Given the description of an element on the screen output the (x, y) to click on. 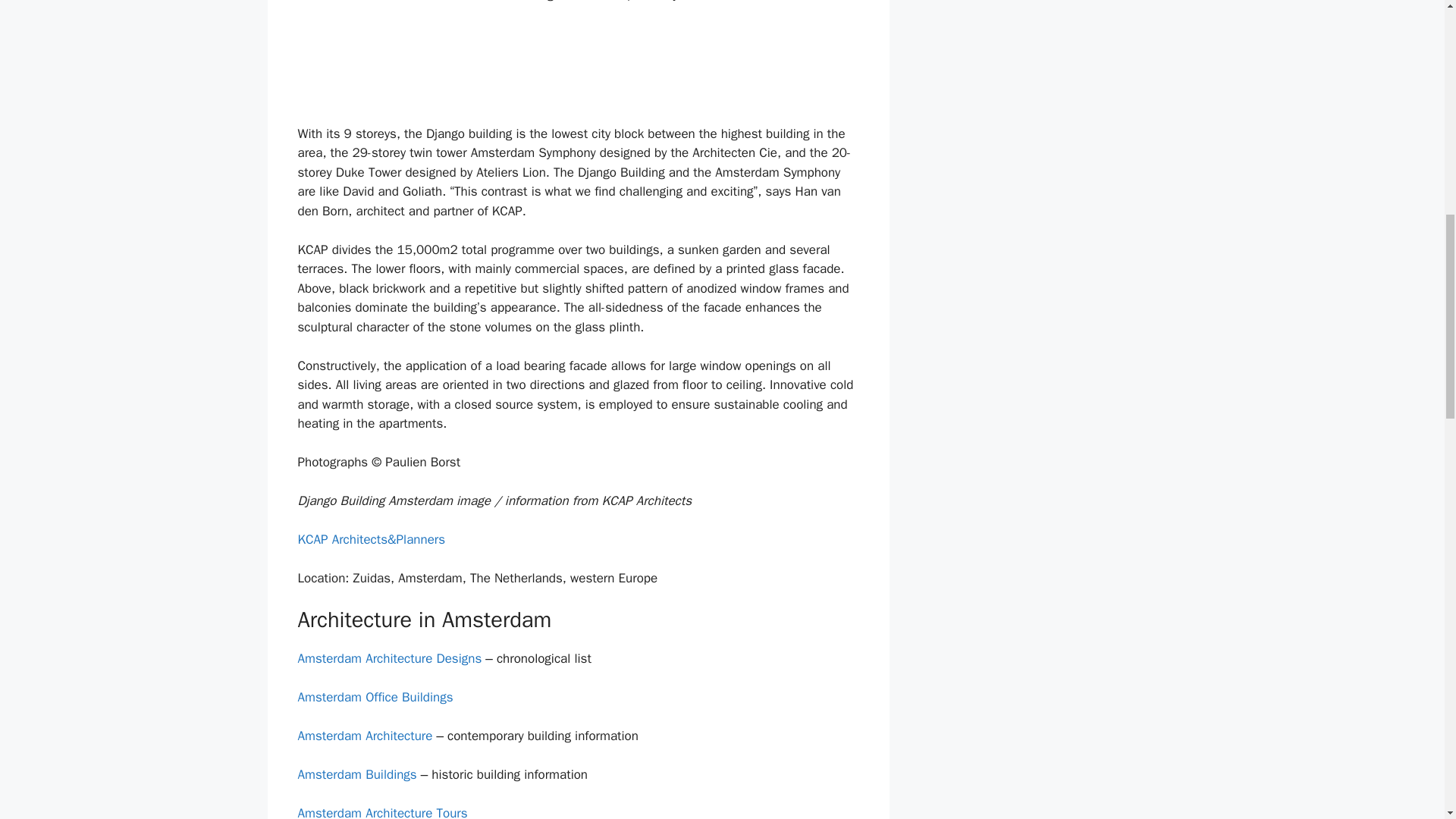
Amsterdam Buildings (356, 774)
Scroll back to top (1406, 720)
Amsterdam Architecture Designs (389, 658)
Amsterdam Architecture (364, 735)
Amsterdam Architecture Tours (382, 812)
Amsterdam Office Buildings (374, 697)
